Given the description of an element on the screen output the (x, y) to click on. 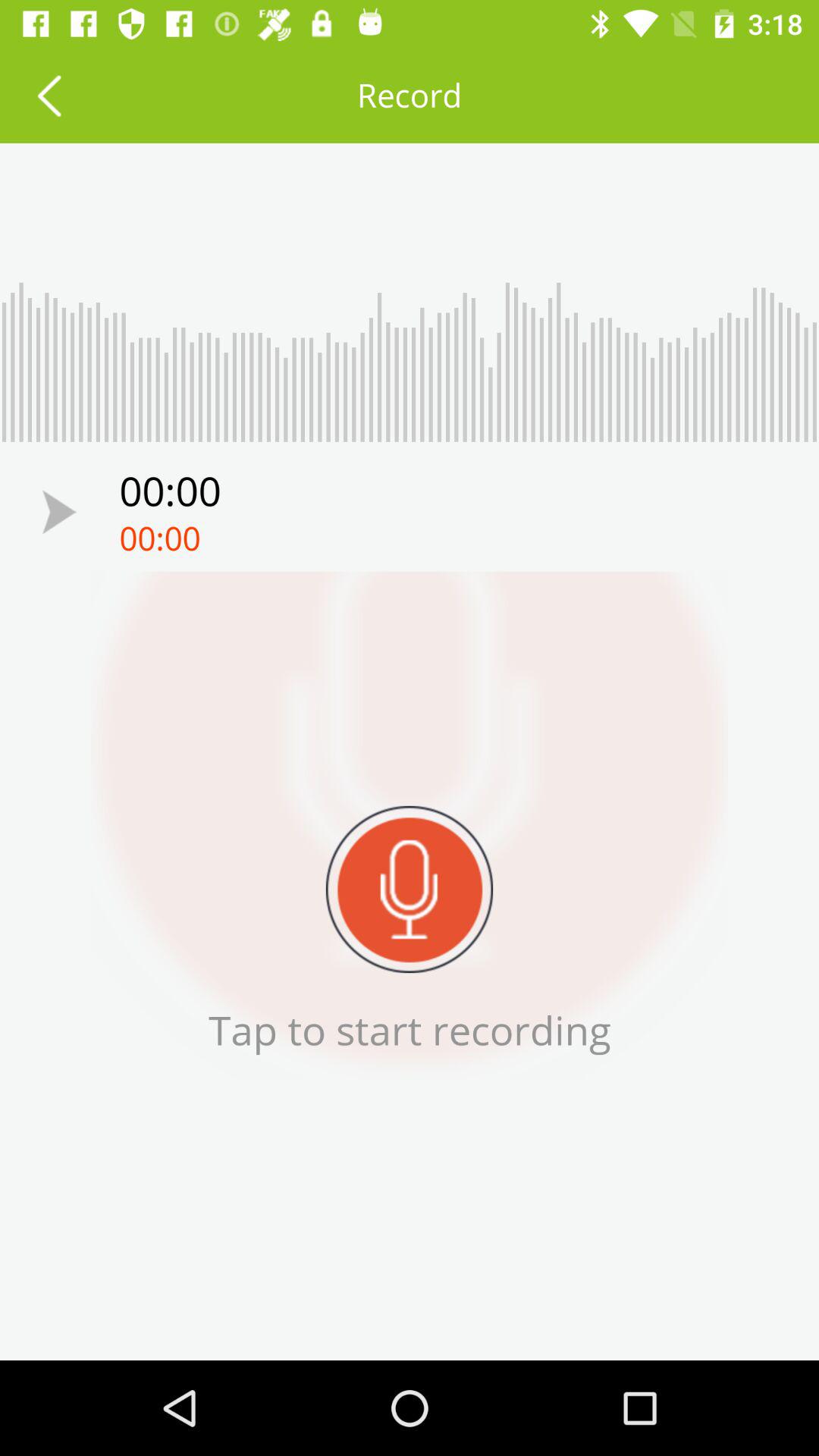
tap item next to 00:00 item (59, 511)
